Given the description of an element on the screen output the (x, y) to click on. 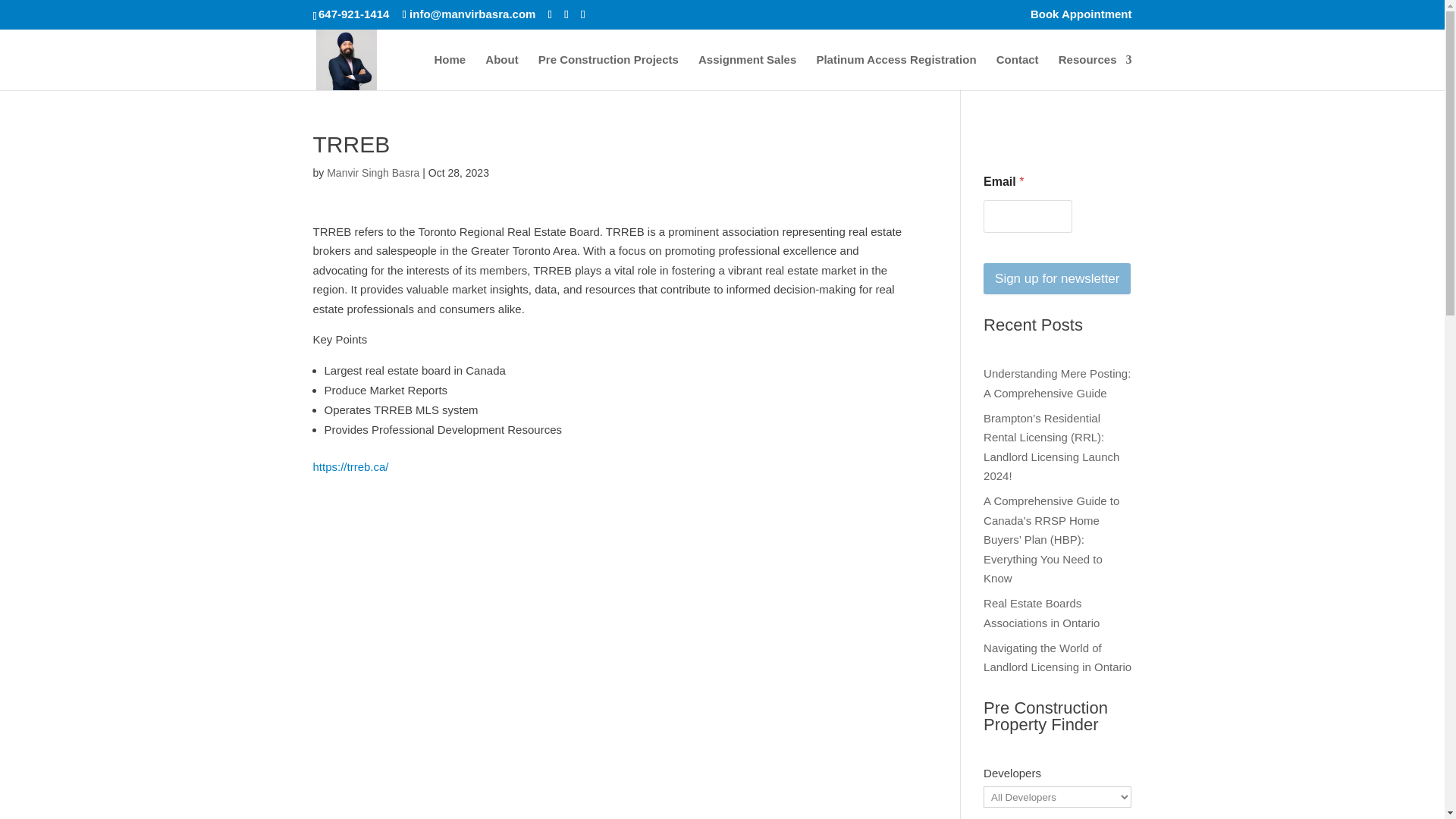
Contact (1017, 72)
About (501, 72)
Real Estate Boards Associations in Ontario (1041, 613)
Sign up for newsletter (1057, 278)
Book Appointment (1081, 17)
Assignment Sales (747, 72)
Posts by Manvir Singh Basra (372, 173)
Home (449, 72)
Platinum Access Registration (895, 72)
Pre Construction Projects (608, 72)
